Given the description of an element on the screen output the (x, y) to click on. 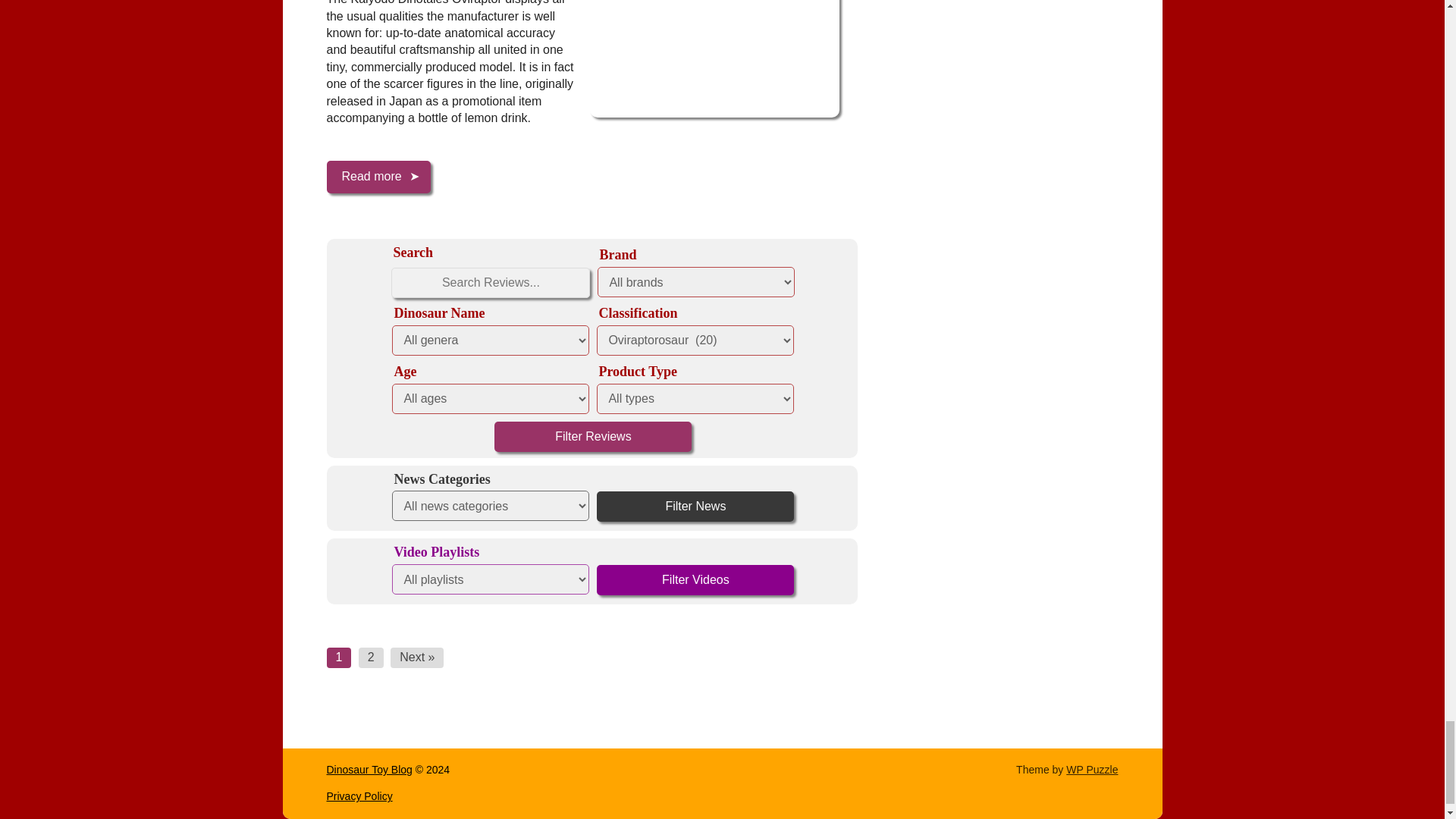
Filter Videos (694, 580)
Filter Reviews (593, 436)
Filter News (694, 506)
